Given the description of an element on the screen output the (x, y) to click on. 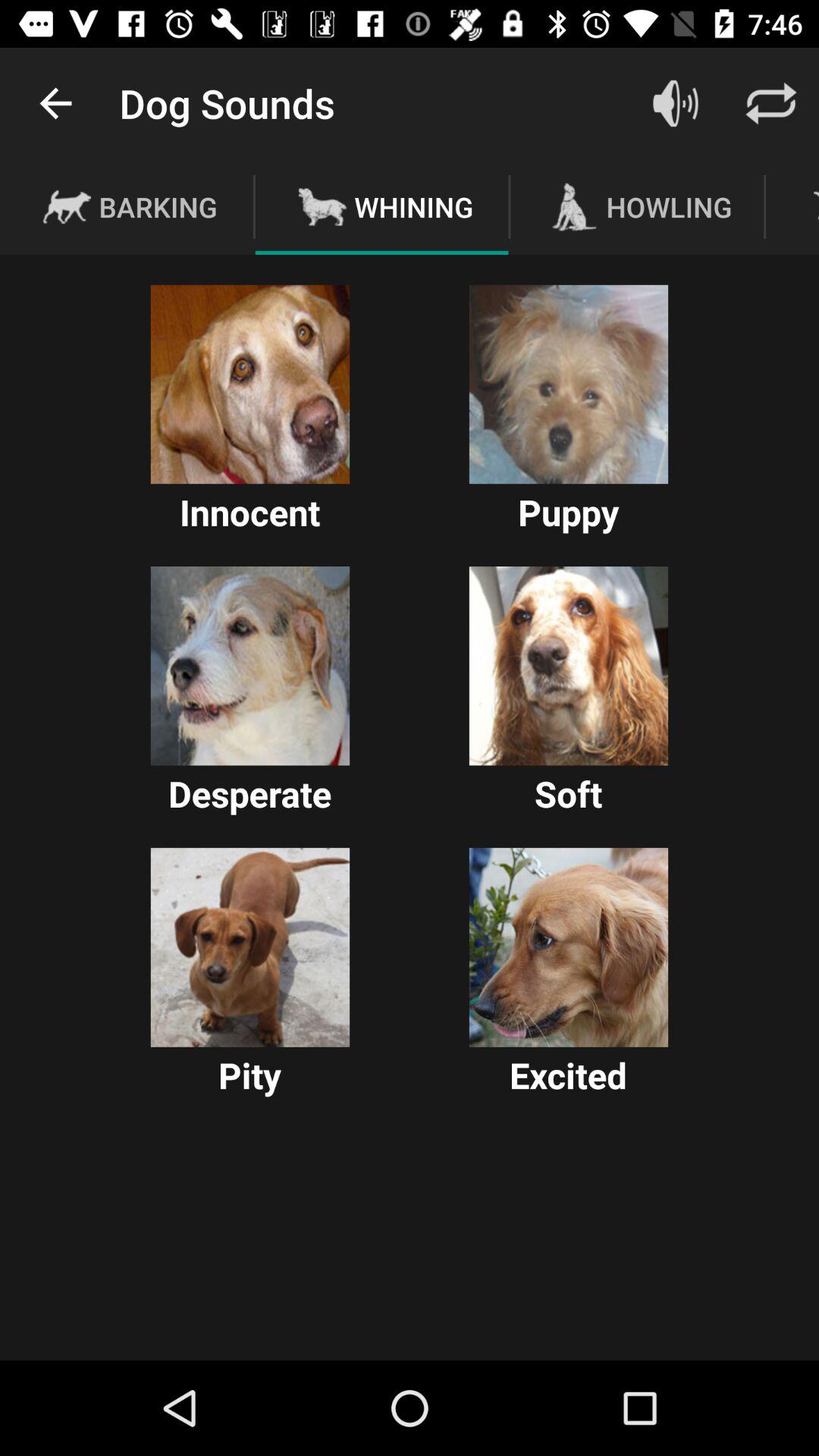
dog face labeled excited (568, 947)
